Given the description of an element on the screen output the (x, y) to click on. 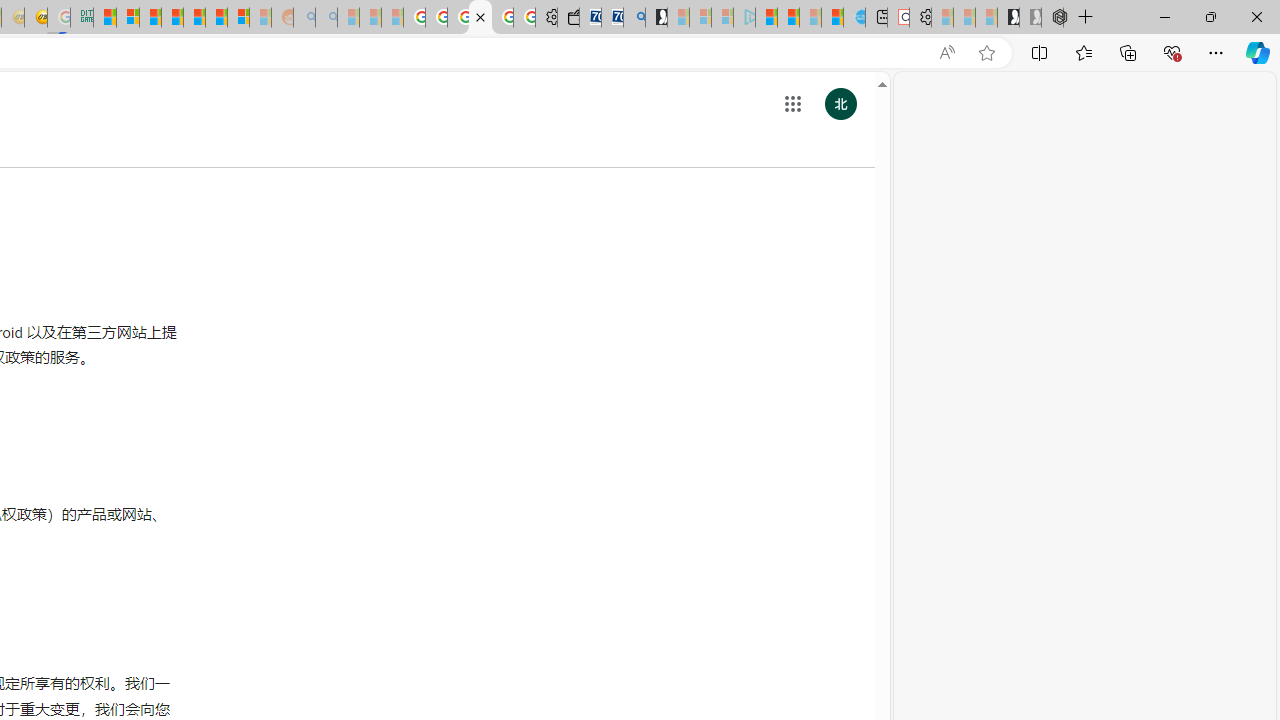
Bing Real Estate - Home sales and rental listings (634, 17)
